Given the description of an element on the screen output the (x, y) to click on. 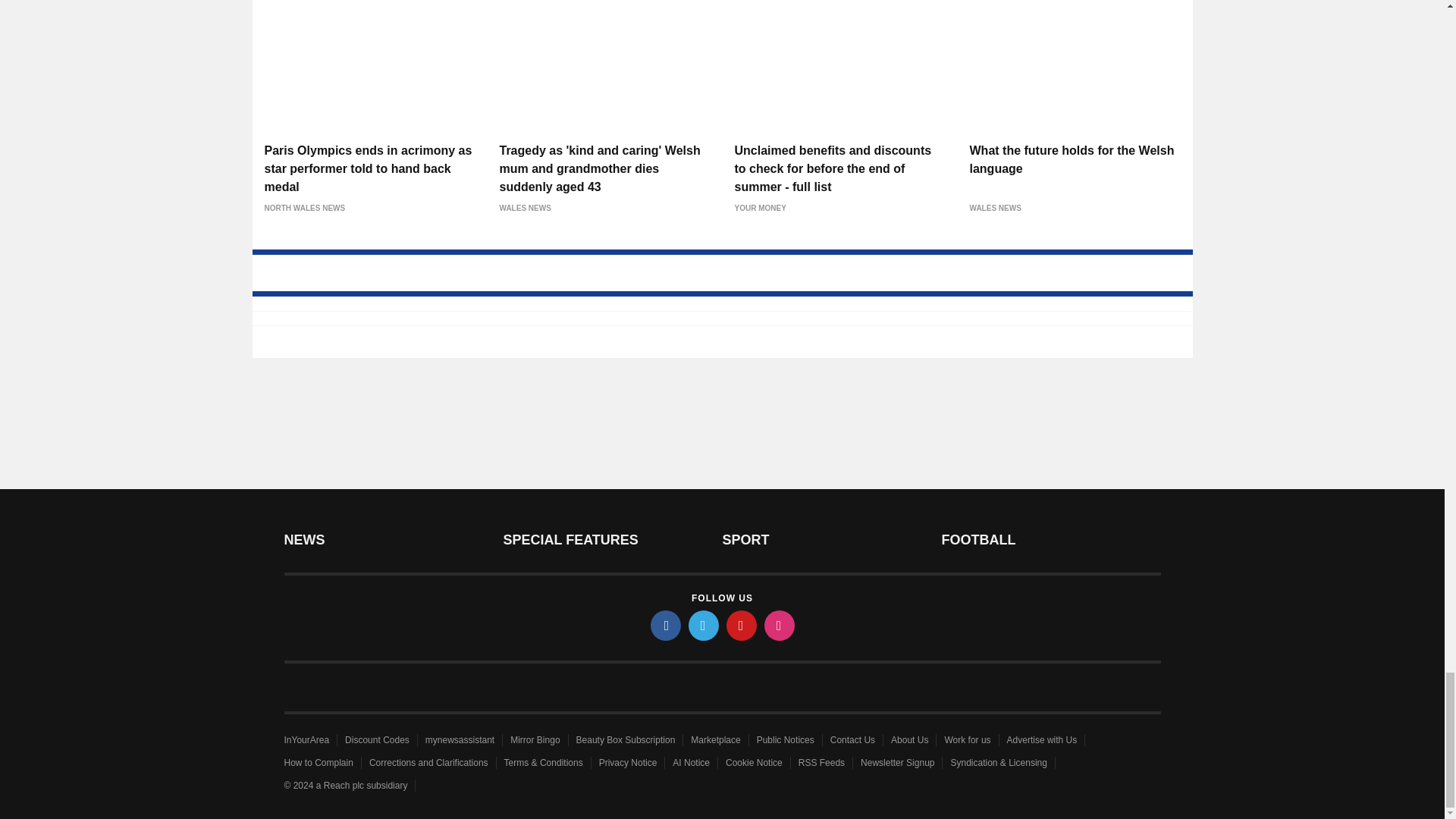
instagram (779, 625)
twitter (703, 625)
pinterest (741, 625)
facebook (665, 625)
